Given the description of an element on the screen output the (x, y) to click on. 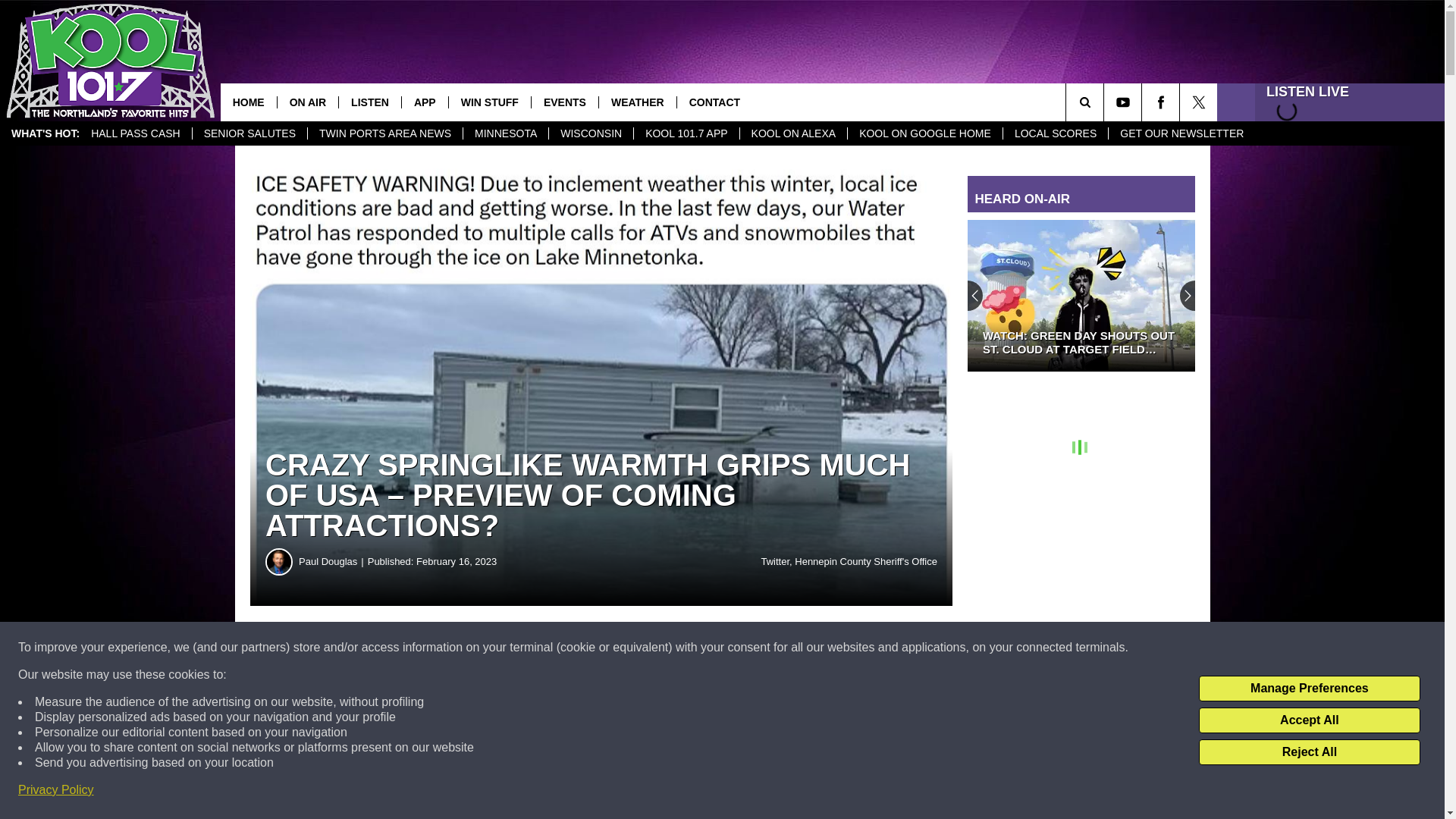
GET OUR NEWSLETTER (1181, 133)
Manage Preferences (1309, 688)
HOME (248, 102)
Share on Twitter (741, 647)
Privacy Policy (55, 789)
Share on Facebook (460, 647)
APP (424, 102)
MINNESOTA (505, 133)
KOOL 101.7 APP (685, 133)
KOOL ON ALEXA (793, 133)
